Given the description of an element on the screen output the (x, y) to click on. 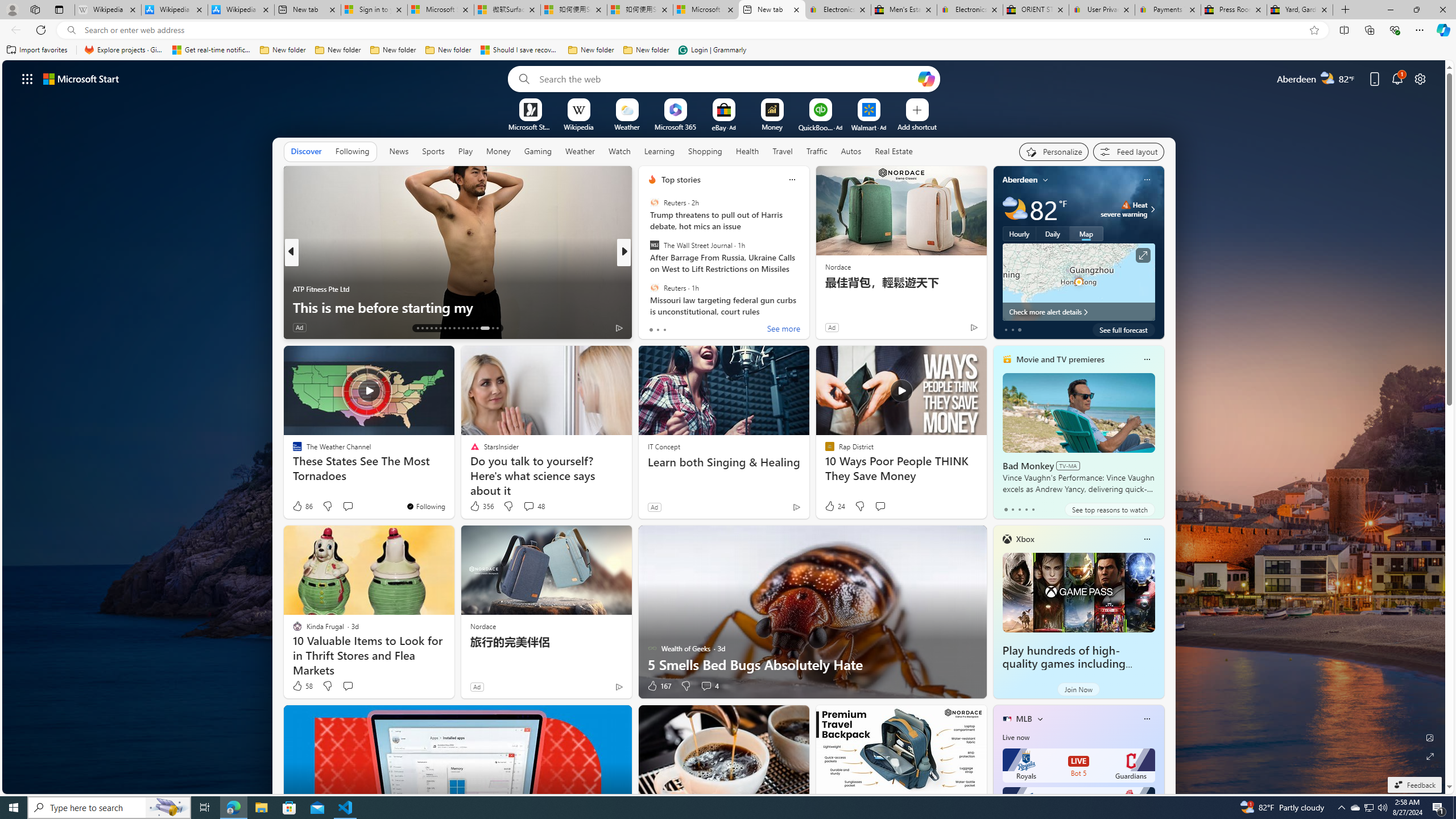
Microsoft account | Account Checkup (706, 9)
Start the conversation (347, 685)
Sports (432, 151)
Personalize your feed" (1054, 151)
Favorites bar (728, 49)
Real Estate (893, 151)
Aberdeen (1019, 179)
Press Room - eBay Inc. (1233, 9)
Sign in to your Microsoft account (374, 9)
